Given the description of an element on the screen output the (x, y) to click on. 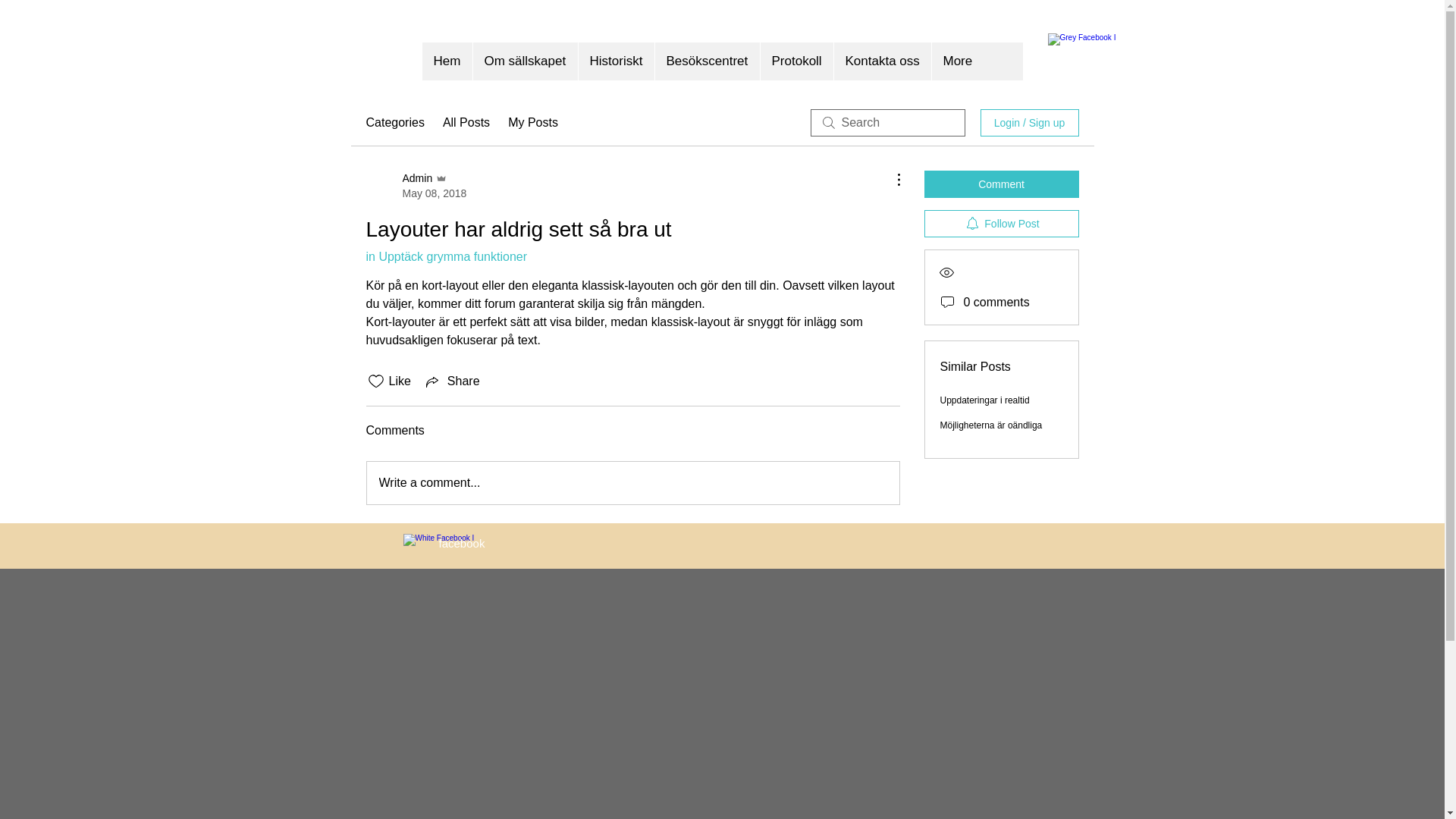
Hem Element type: text (446, 61)
My Posts Element type: text (533, 122)
Kontakta oss Element type: text (881, 61)
Categories Element type: text (394, 122)
All Posts Element type: text (465, 122)
Follow Post Element type: text (1000, 223)
Login / Sign up Element type: text (1028, 122)
facebook Element type: text (461, 542)
Share Element type: text (451, 381)
Comment Element type: text (1000, 183)
Historiskt Element type: text (615, 61)
Protokoll Element type: text (796, 61)
Write a comment... Element type: text (633, 482)
Uppdateringar i realtid Element type: text (984, 400)
